Given the description of an element on the screen output the (x, y) to click on. 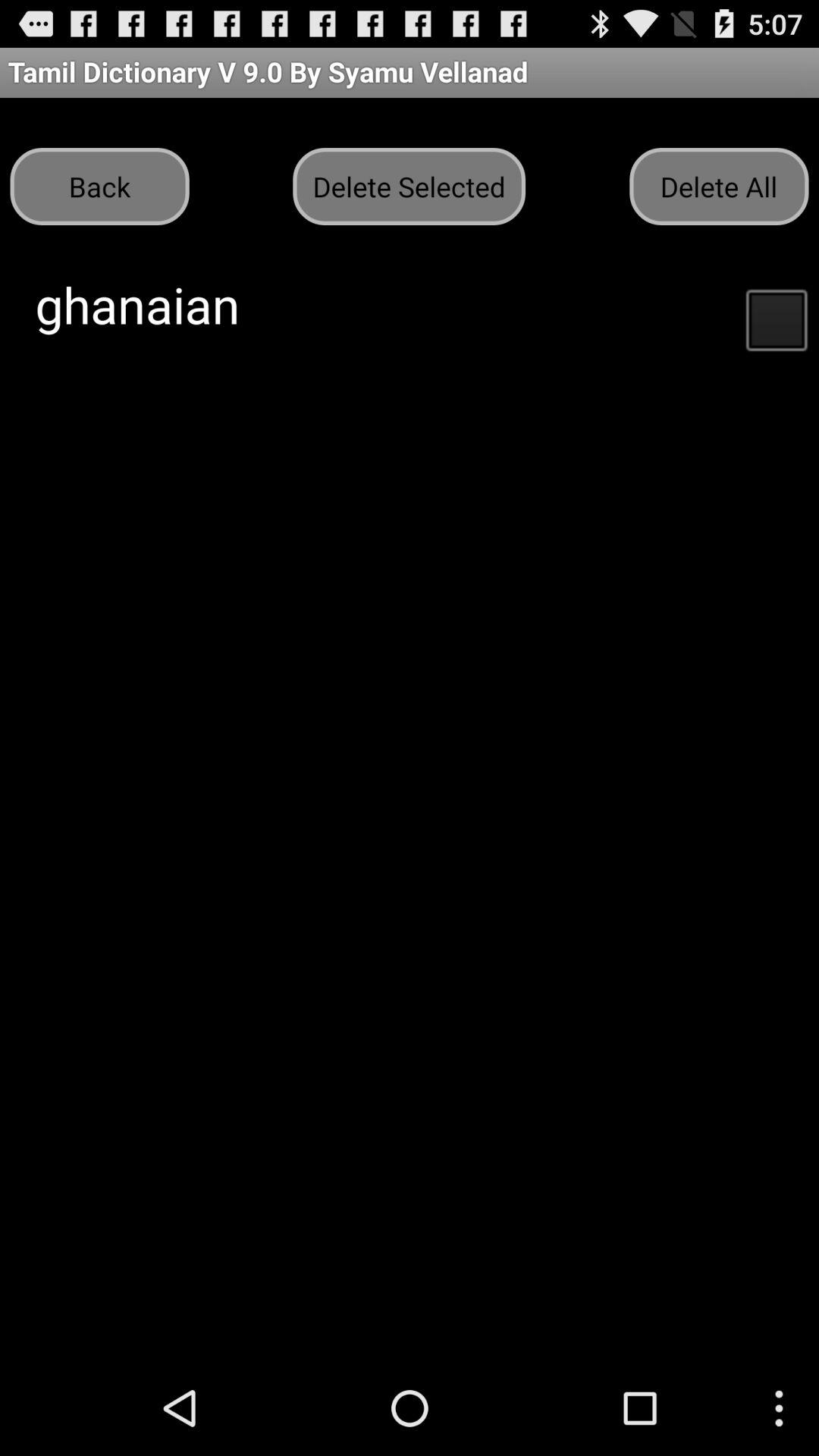
click button below the delete all button (775, 318)
